Given the description of an element on the screen output the (x, y) to click on. 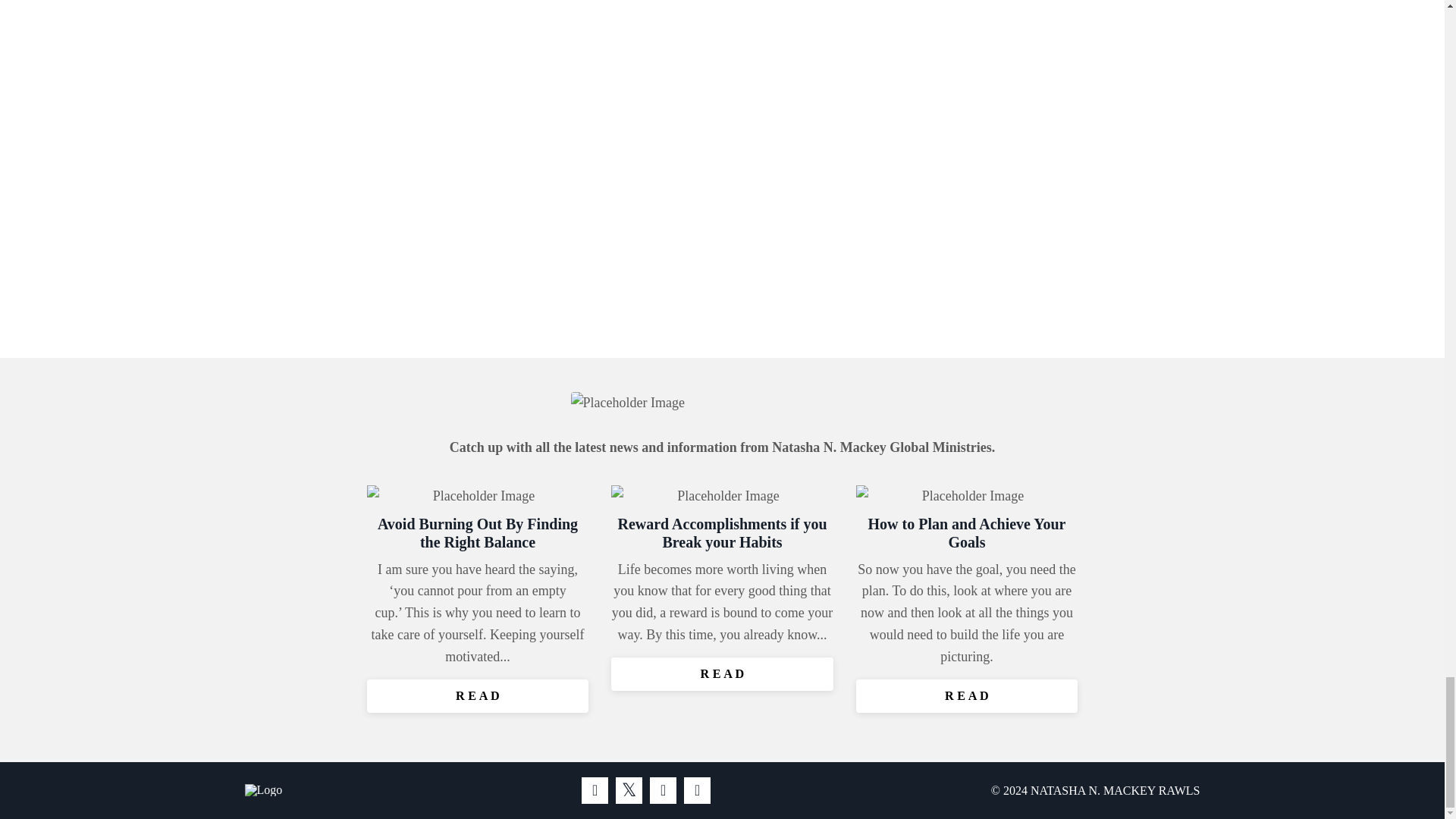
R E A D (967, 695)
R E A D (477, 695)
R E A D (721, 674)
